Given the description of an element on the screen output the (x, y) to click on. 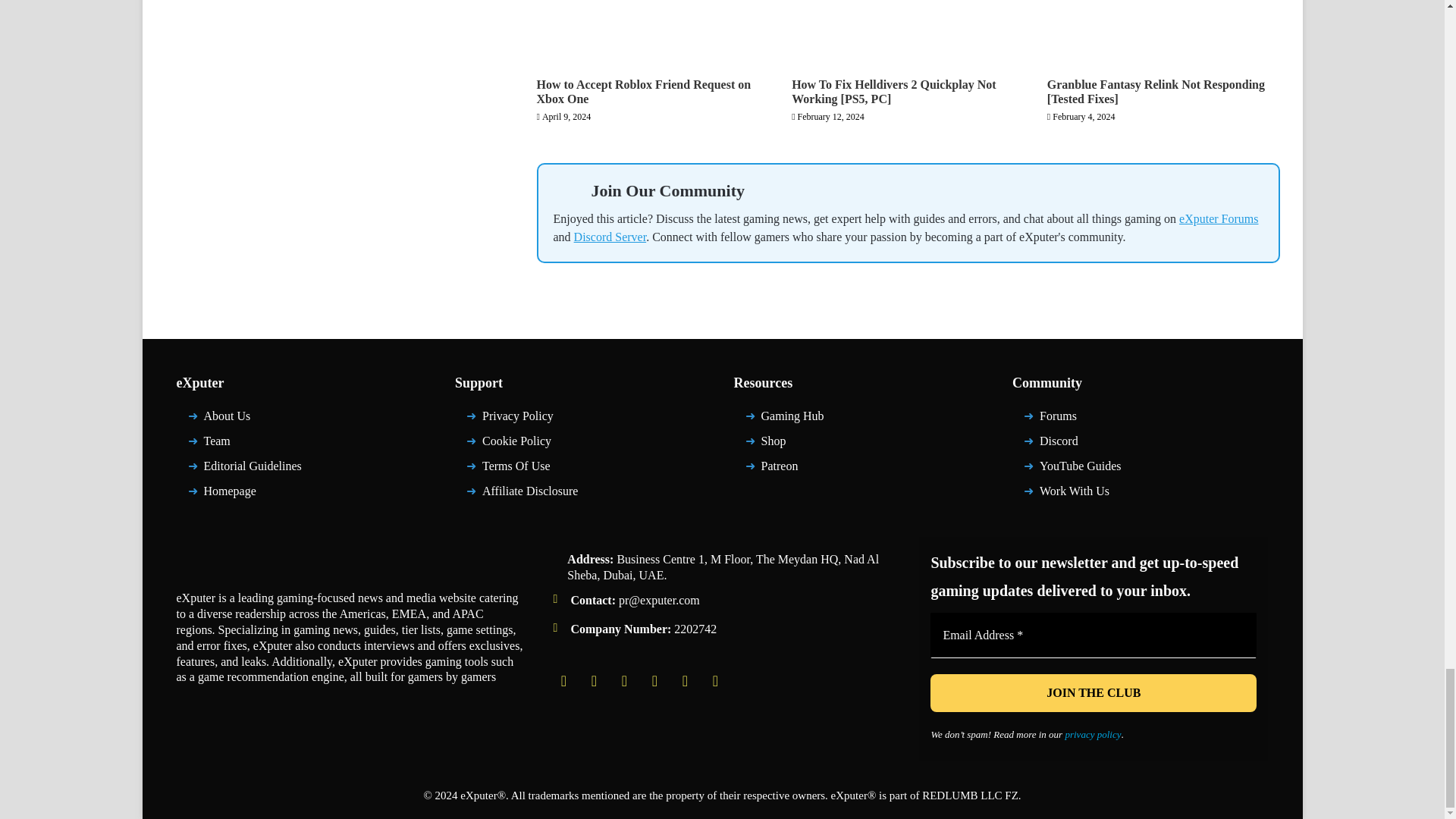
JOIN THE  CLUB (1093, 692)
Email Address (1093, 635)
